Given the description of an element on the screen output the (x, y) to click on. 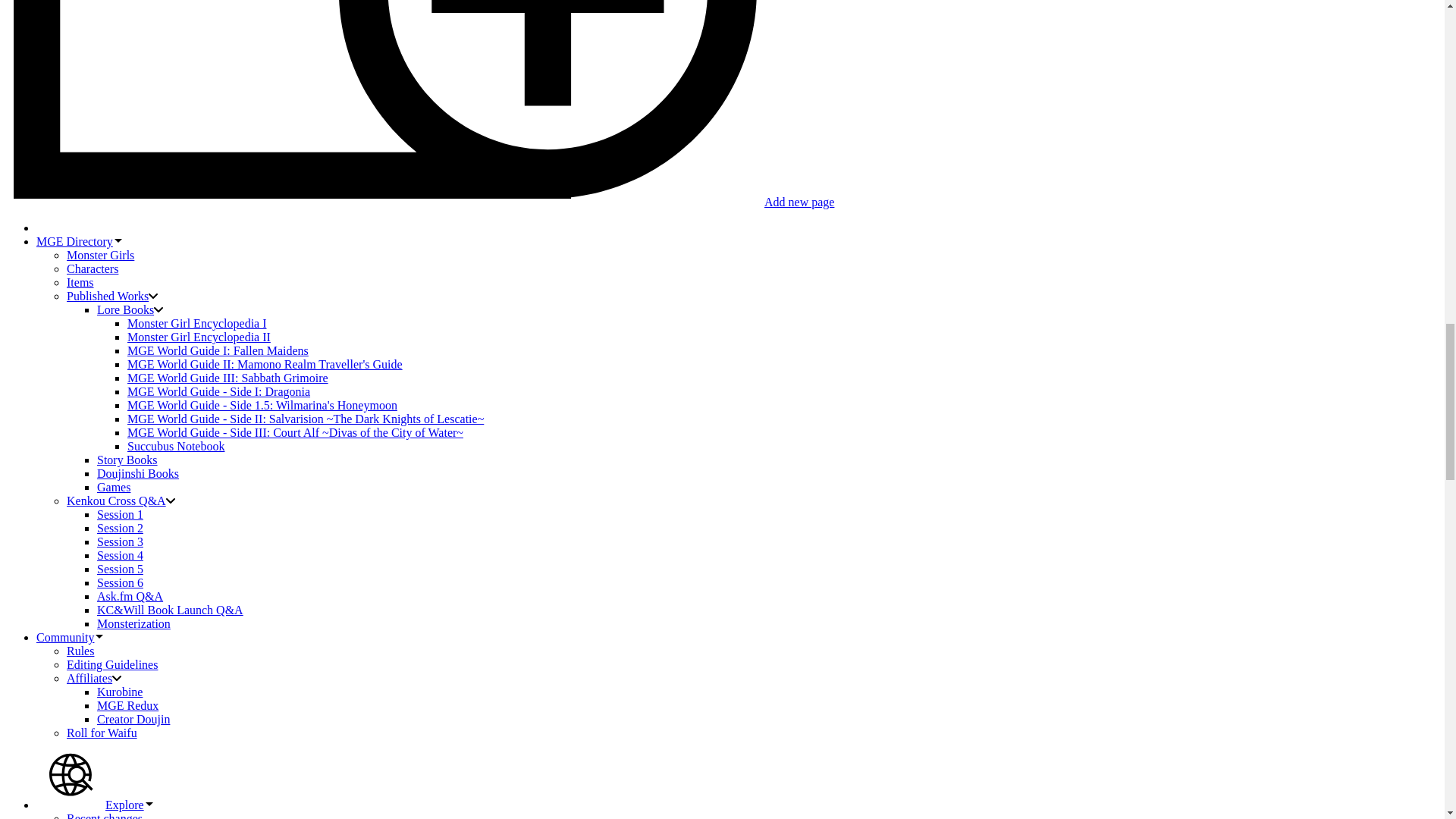
Add New Page (419, 201)
